Given the description of an element on the screen output the (x, y) to click on. 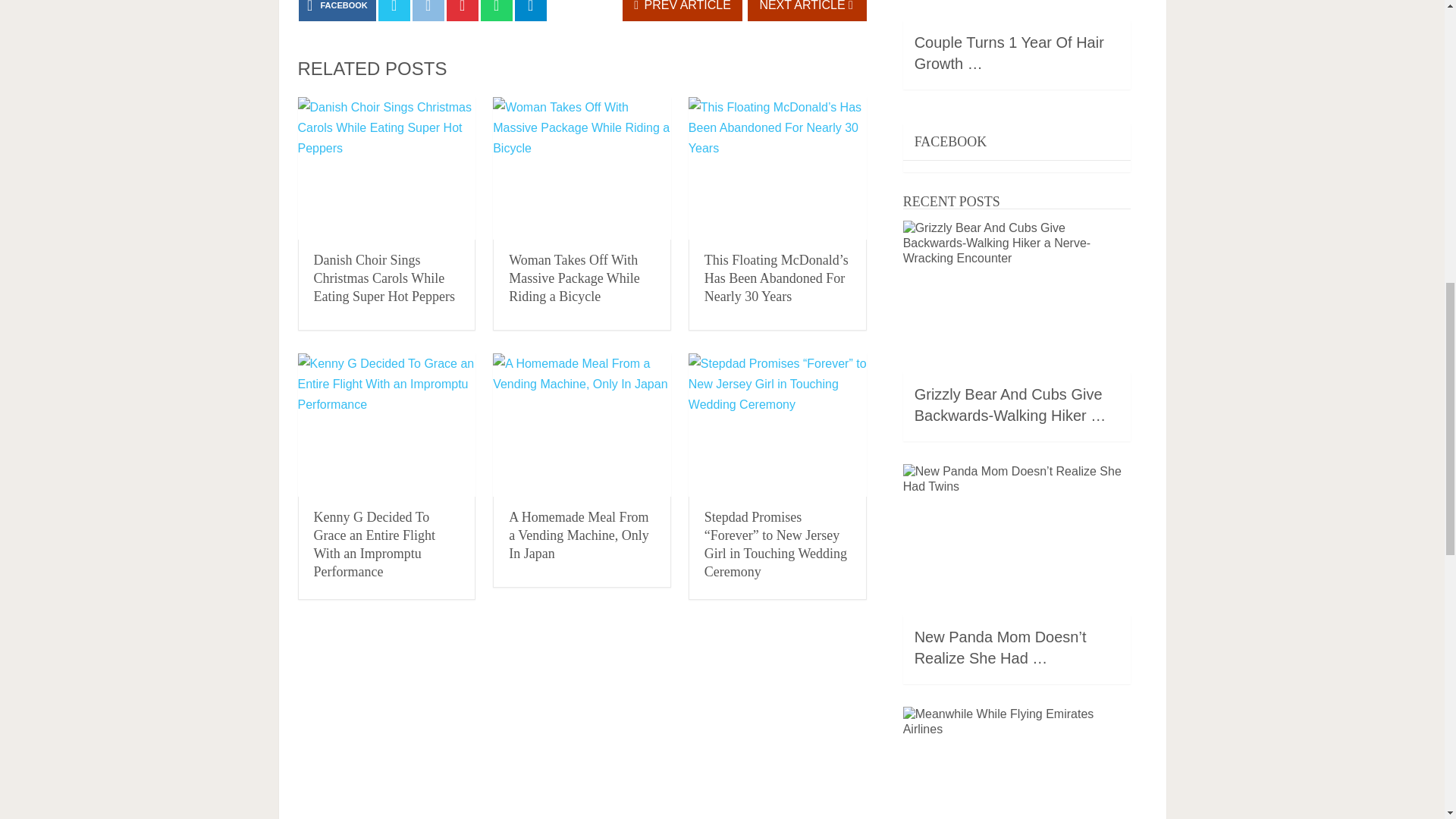
Woman Takes Off With Massive Package While Riding a Bicycle (582, 168)
FACEBOOK (336, 10)
A Homemade Meal From a Vending Machine, Only In Japan (582, 424)
Woman Takes Off With Massive Package While Riding a Bicycle (574, 277)
